Given the description of an element on the screen output the (x, y) to click on. 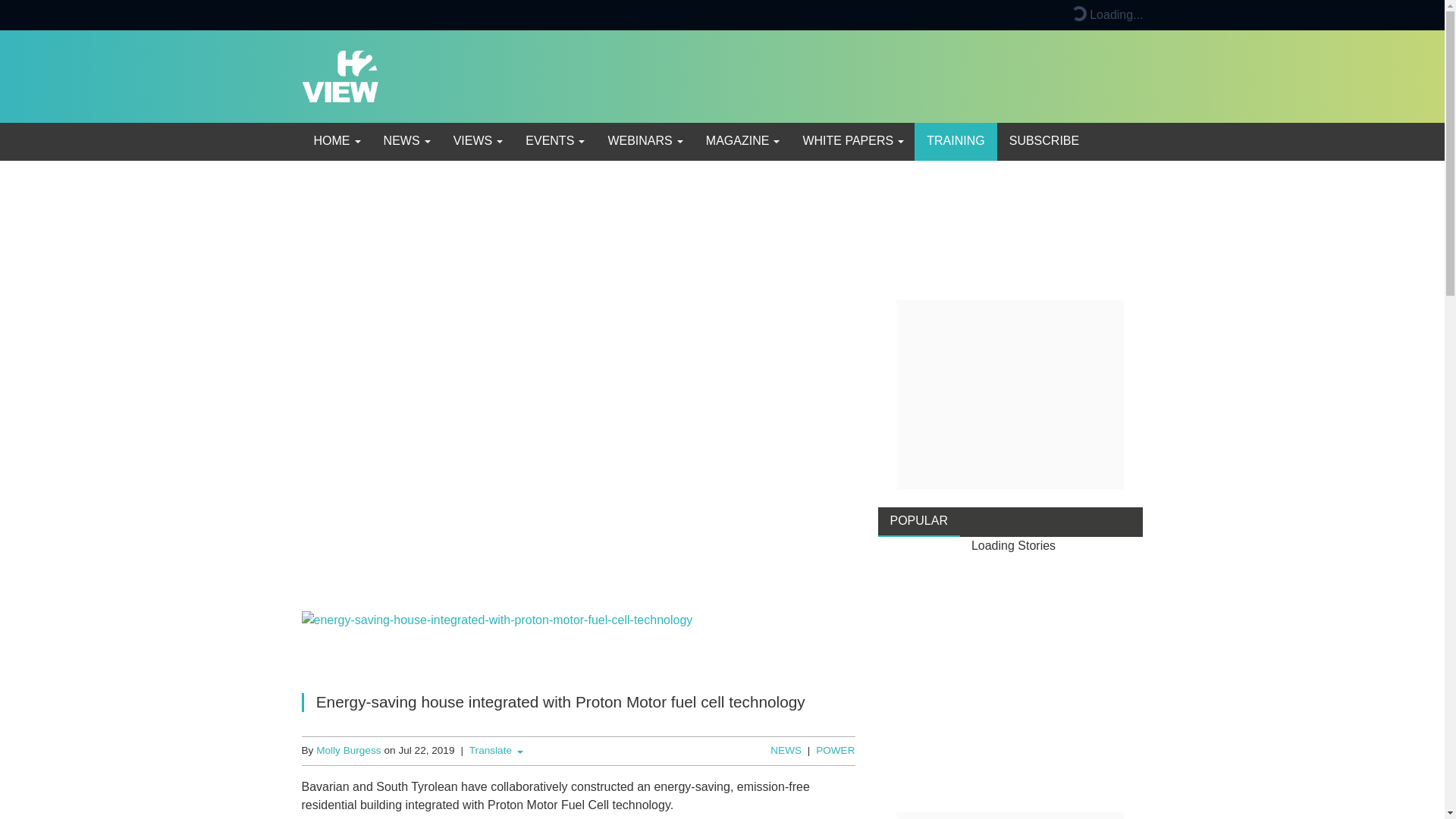
HOME (336, 140)
News (406, 140)
NEWS (406, 140)
VIEWS (477, 140)
H2 View (339, 74)
Home (336, 140)
